Given the description of an element on the screen output the (x, y) to click on. 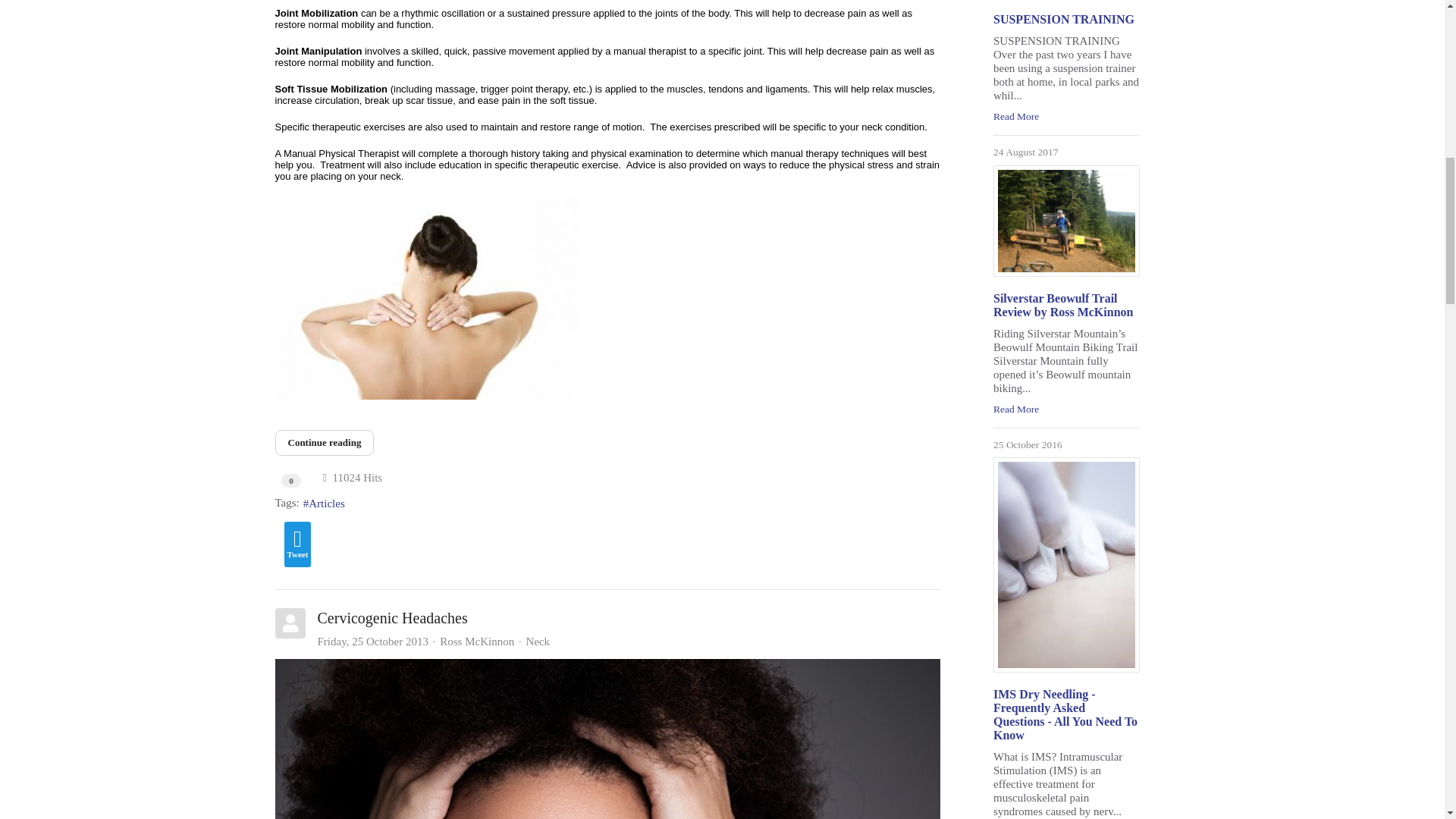
0 (291, 479)
Cervicogenic Headaches (392, 617)
Continue reading (324, 442)
Silverstar Beowulf Trail Review by Ross McKinnon (1062, 304)
Silverstar Beowulf Trail Review by Ross McKinnon (1066, 220)
Ross McKinnon (476, 641)
Cervicogenic Headaches (607, 739)
Articles (323, 503)
SUSPENSION TRAINING (1063, 19)
